Given the description of an element on the screen output the (x, y) to click on. 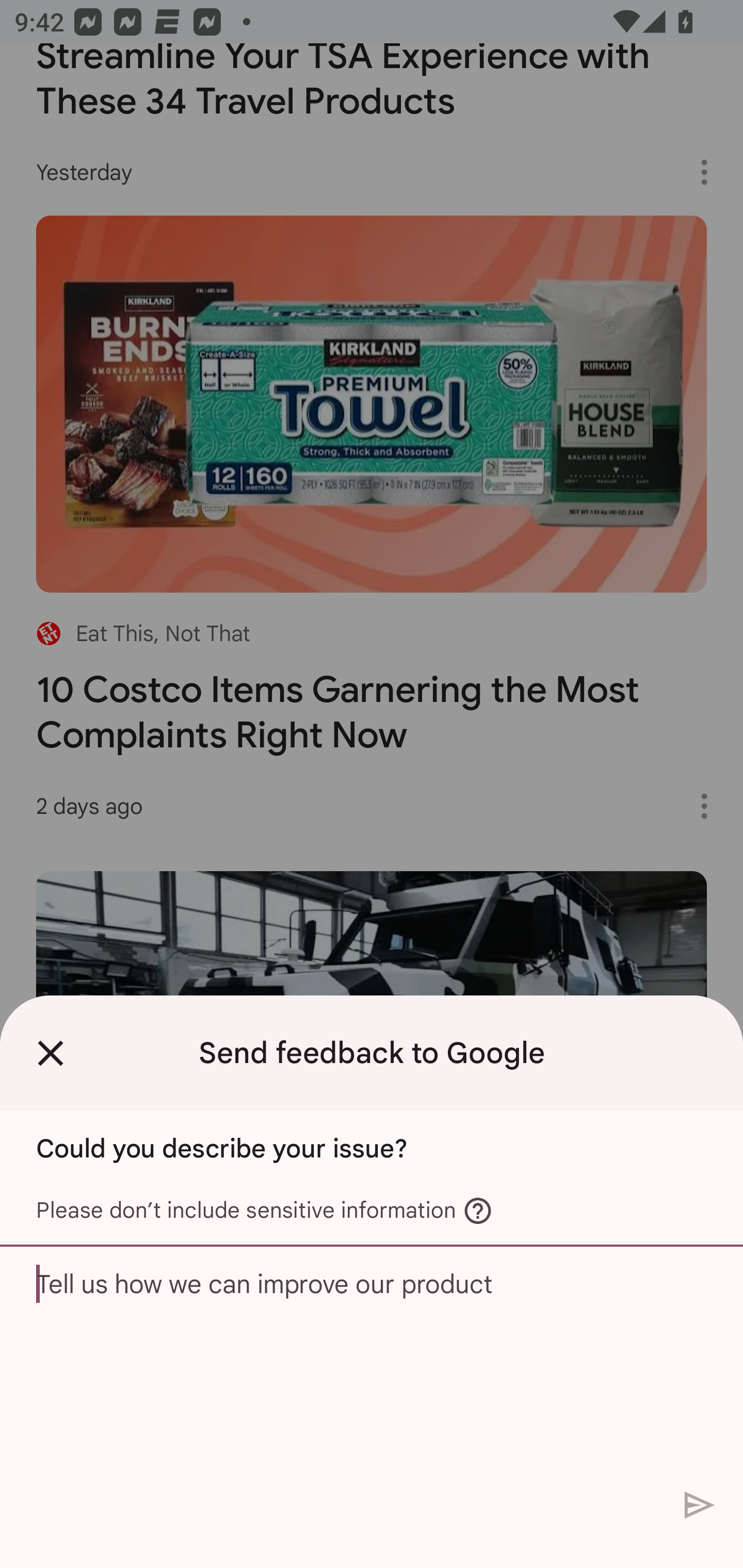
Close Feedback (50, 1052)
Tell us how we can improve our product (371, 1362)
Submit the feedback that you entered (699, 1504)
